Given the description of an element on the screen output the (x, y) to click on. 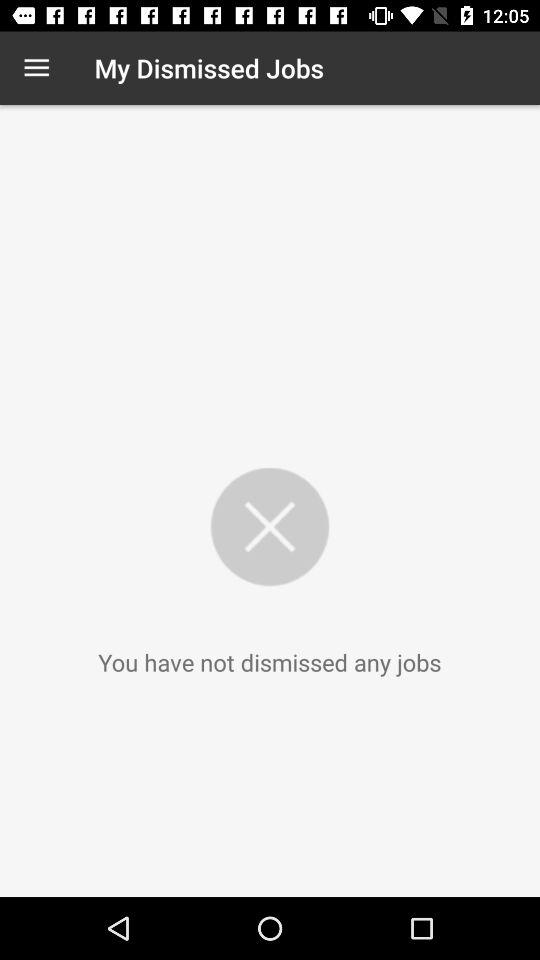
choose the icon at the top left corner (36, 68)
